Given the description of an element on the screen output the (x, y) to click on. 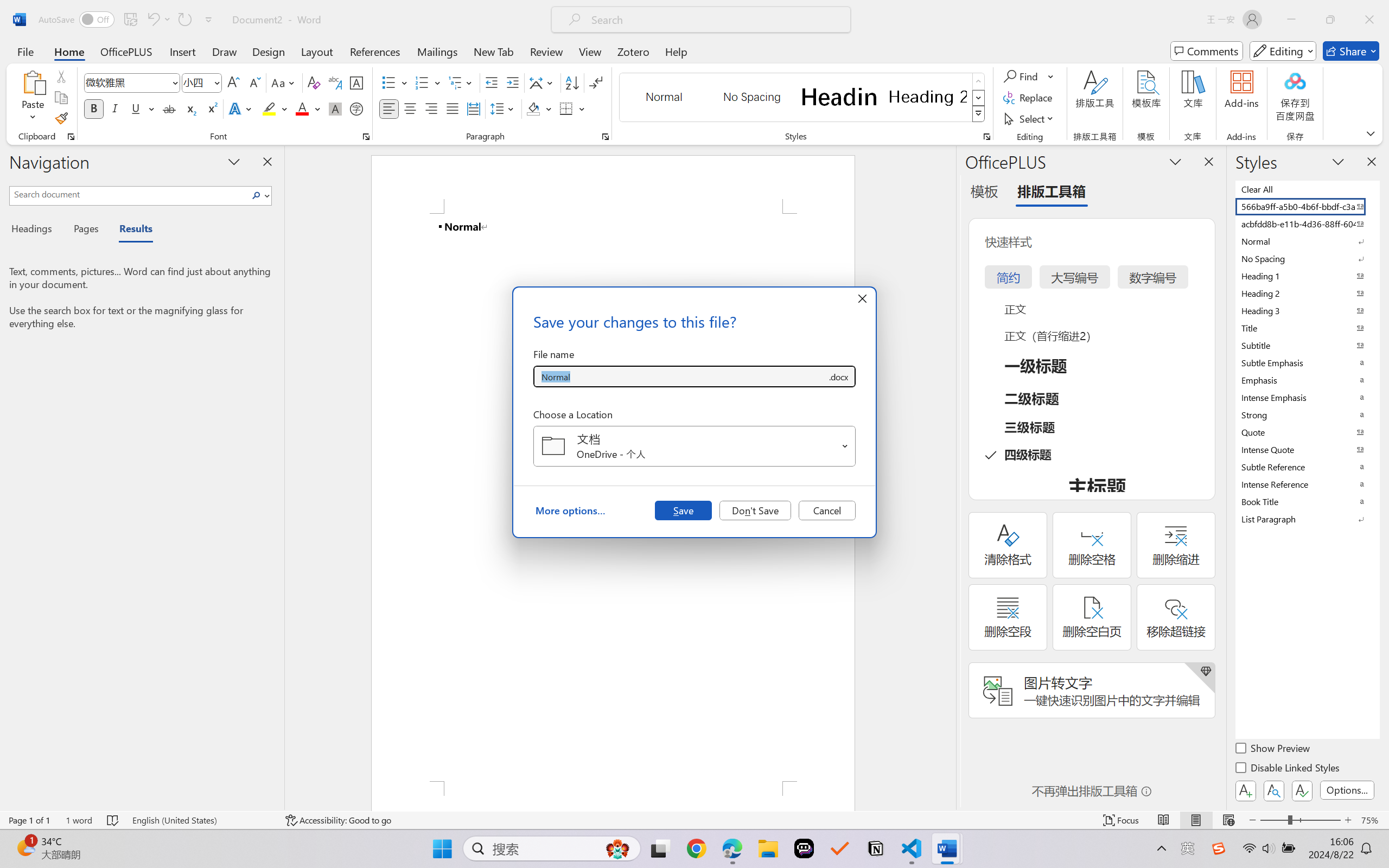
Select (1030, 118)
Font (126, 82)
Paste (33, 81)
Class: NetUIButton (1301, 790)
Quick Access Toolbar (127, 19)
Results (130, 229)
Align Left (388, 108)
Shading RGB(0, 0, 0) (533, 108)
Text Effects and Typography (241, 108)
Accessibility Checker Accessibility: Good to go (338, 819)
Intense Emphasis (1306, 397)
